Given the description of an element on the screen output the (x, y) to click on. 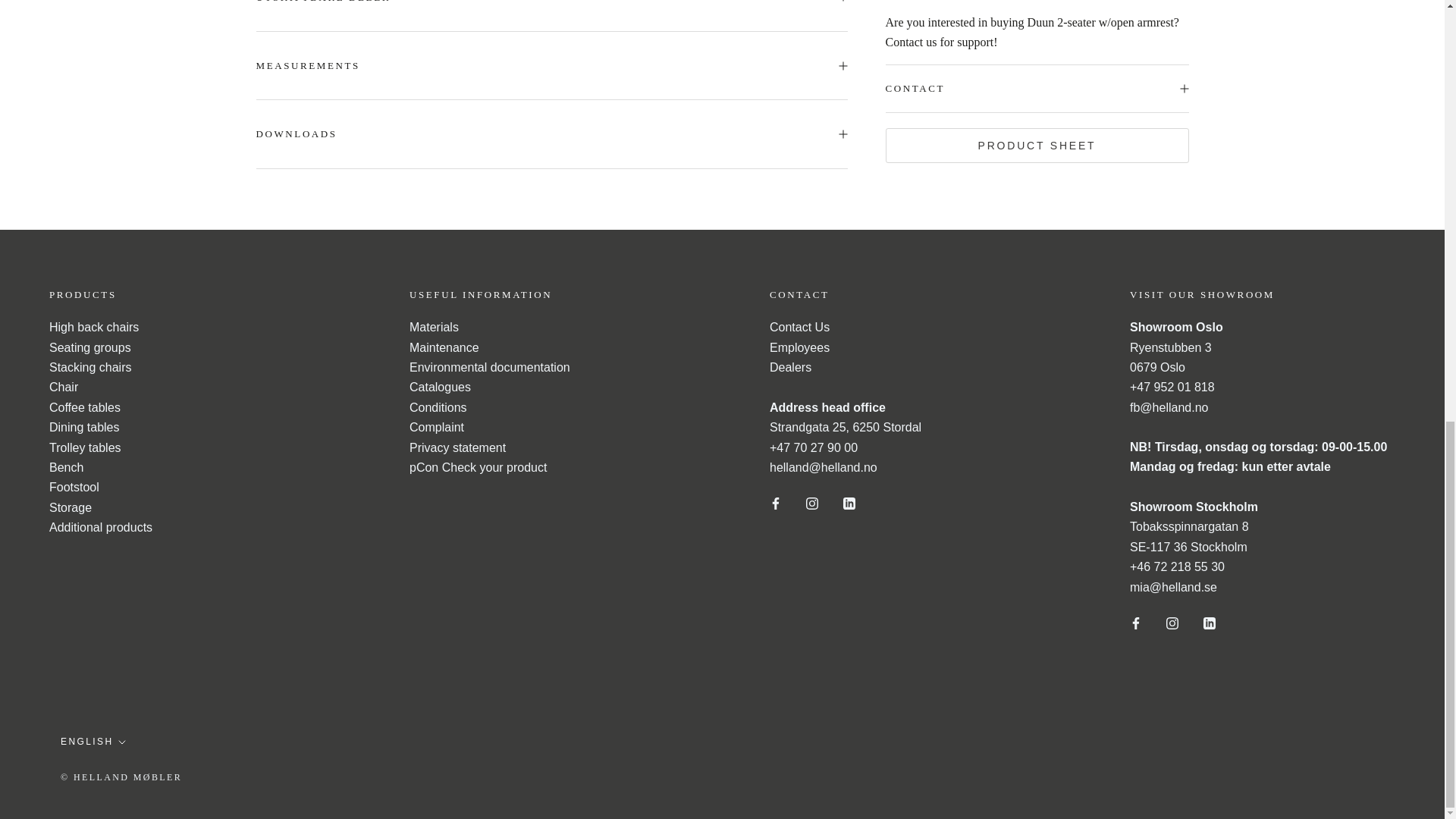
Bench (65, 467)
Additional products (100, 526)
Maintenance (444, 347)
Complaint (436, 427)
Materials (433, 327)
Footstool (74, 486)
Stacking chairs (90, 367)
Storage (70, 507)
Chair (63, 386)
Coffee table (84, 407)
Dining table (84, 427)
Conditions (438, 407)
Catalogues (439, 386)
Environmental documentation (489, 367)
High back chair (93, 327)
